Given the description of an element on the screen output the (x, y) to click on. 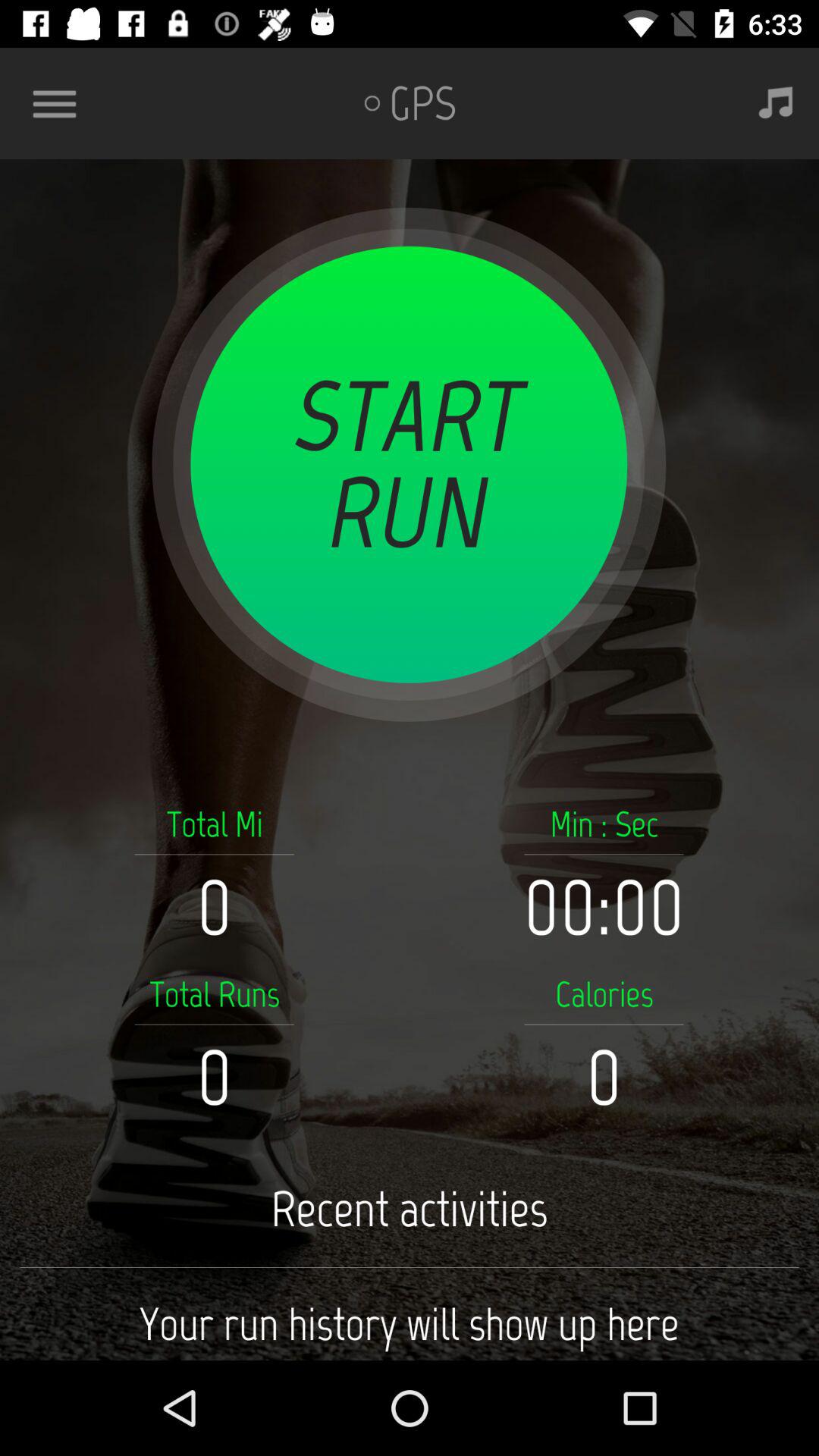
turn on item at the top left corner (60, 103)
